Given the description of an element on the screen output the (x, y) to click on. 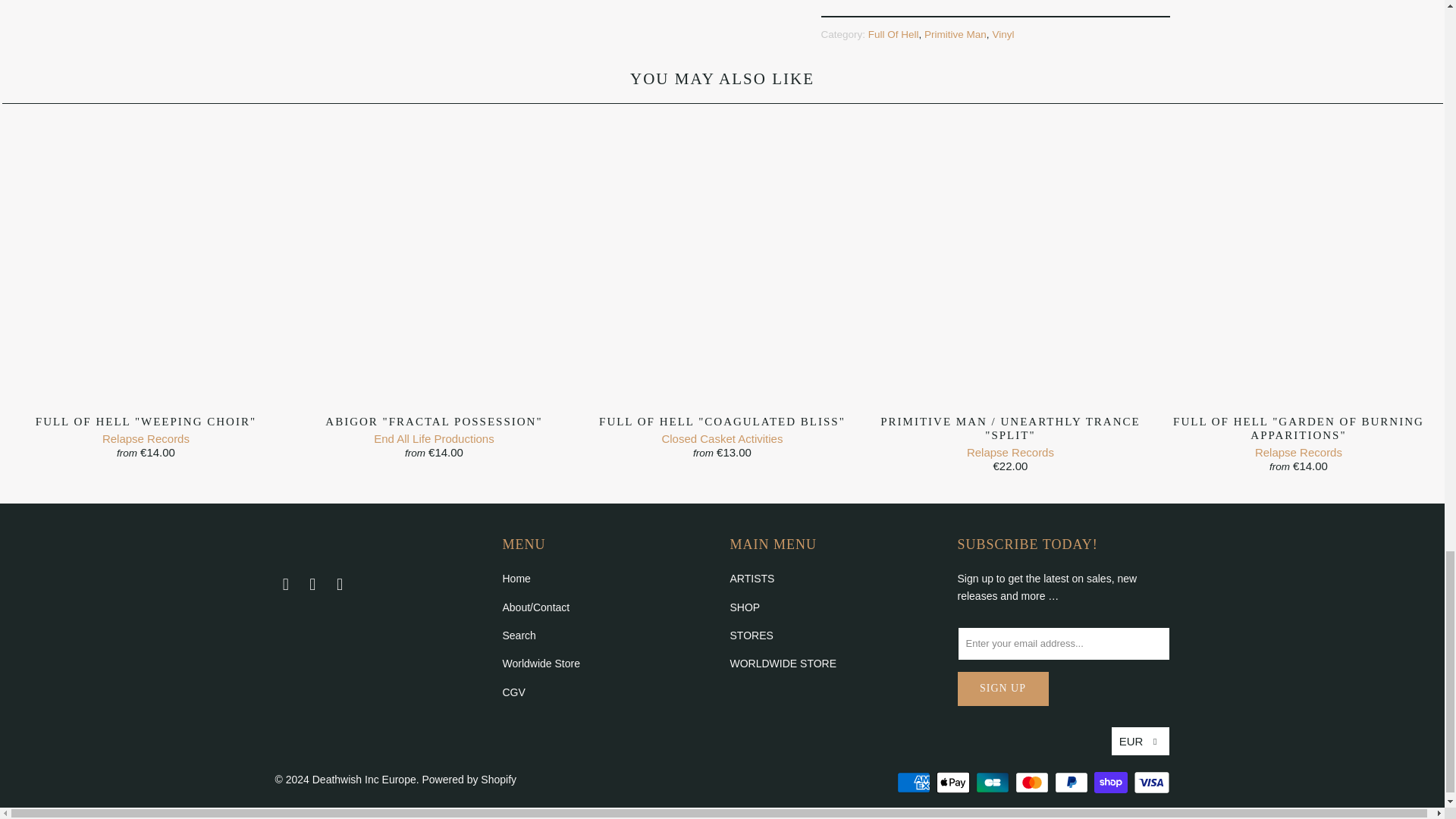
Mastercard (1032, 782)
Products tagged Primitive Man (955, 34)
Shop Pay (1112, 782)
Visa (1150, 782)
PayPal (1072, 782)
Apple Pay (954, 782)
Sign Up (1002, 688)
Products tagged Vinyl (1002, 34)
Cartes Bancaires (993, 782)
Products tagged Full Of Hell (892, 34)
